Given the description of an element on the screen output the (x, y) to click on. 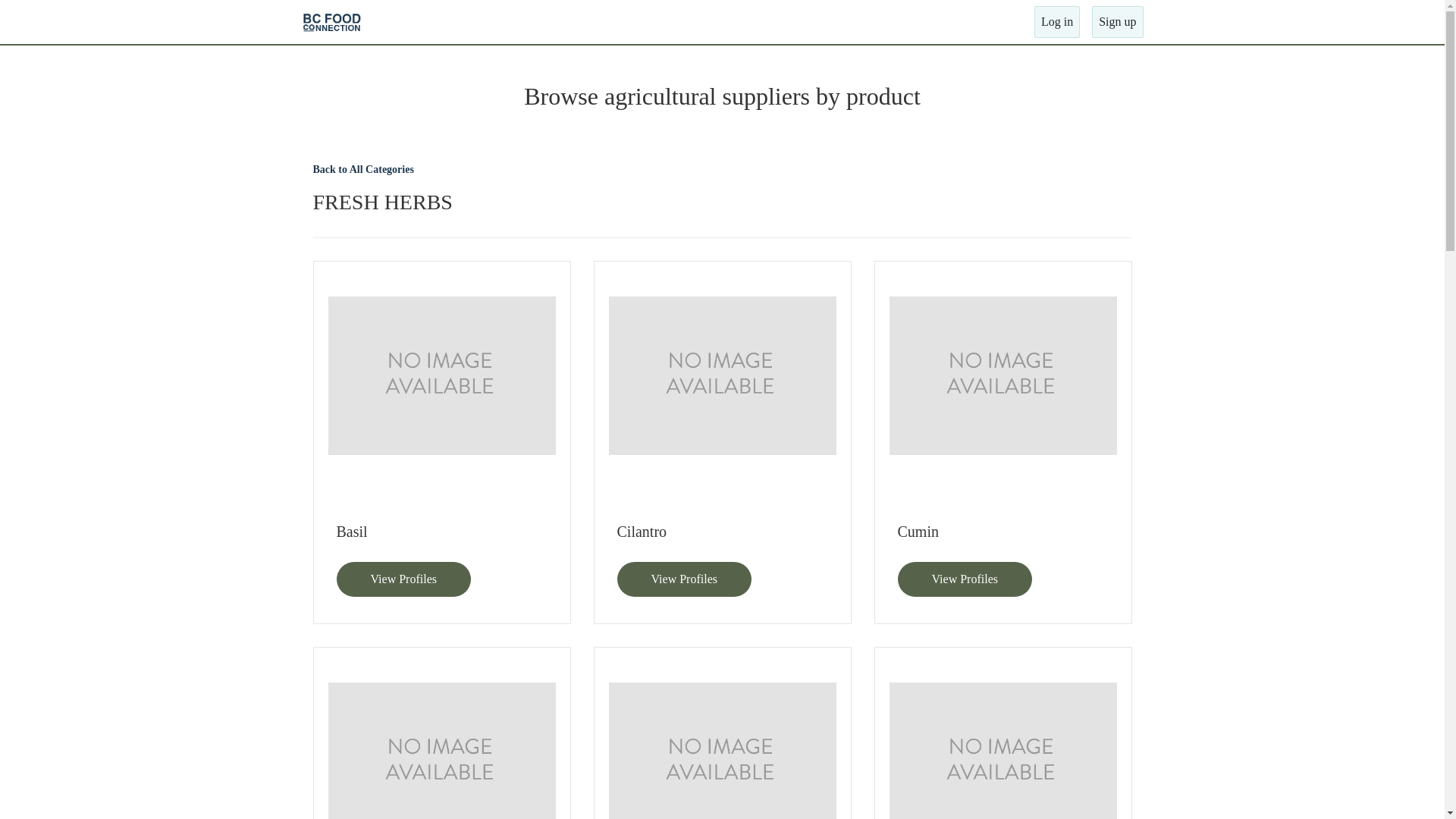
Sign up Element type: text (1117, 21)
View Profiles Element type: text (684, 578)
View Profiles Element type: text (964, 578)
Log in Element type: text (1056, 21)
FRESH HERBS Element type: text (721, 202)
Back to All Categories Element type: text (362, 169)
View Profiles Element type: text (403, 578)
